Given the description of an element on the screen output the (x, y) to click on. 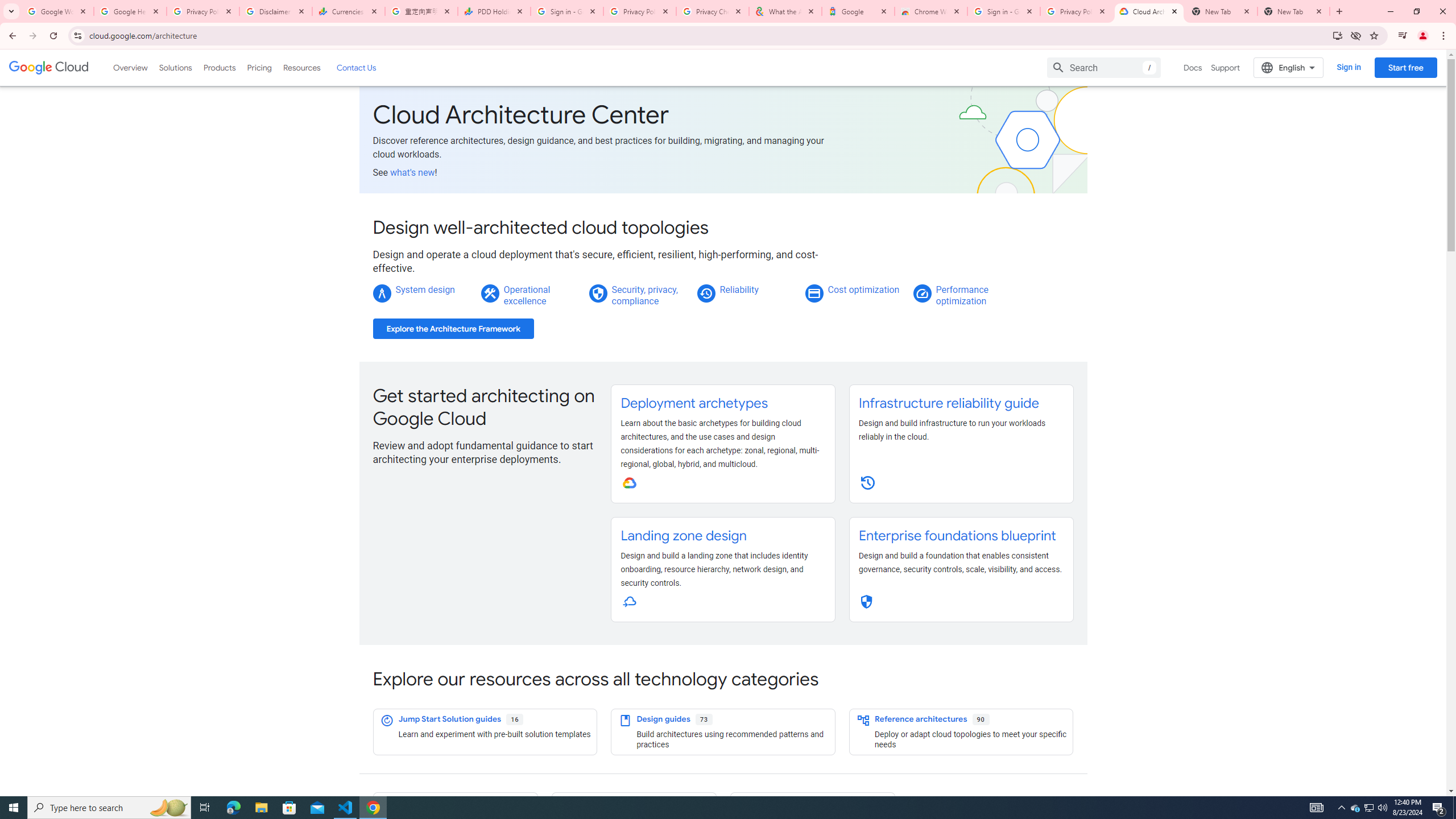
Landing zone design (683, 535)
Sign in - Google Accounts (566, 11)
Security, privacy, compliance (644, 295)
System design (424, 289)
Privacy Checkup (712, 11)
Infrastructure reliability guide (948, 402)
